Given the description of an element on the screen output the (x, y) to click on. 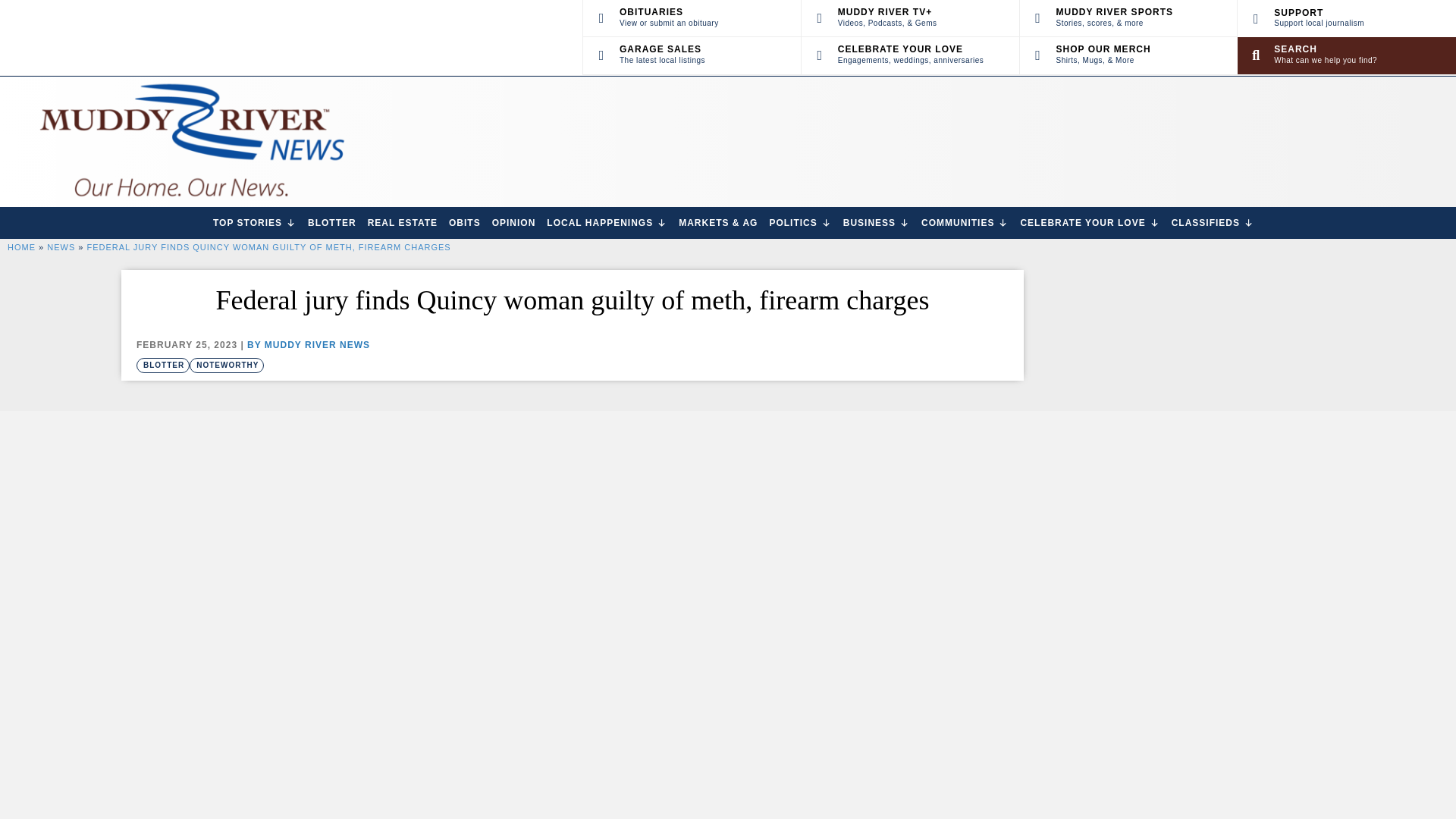
cropped-MRN-final-with-tag.png (691, 54)
